Given the description of an element on the screen output the (x, y) to click on. 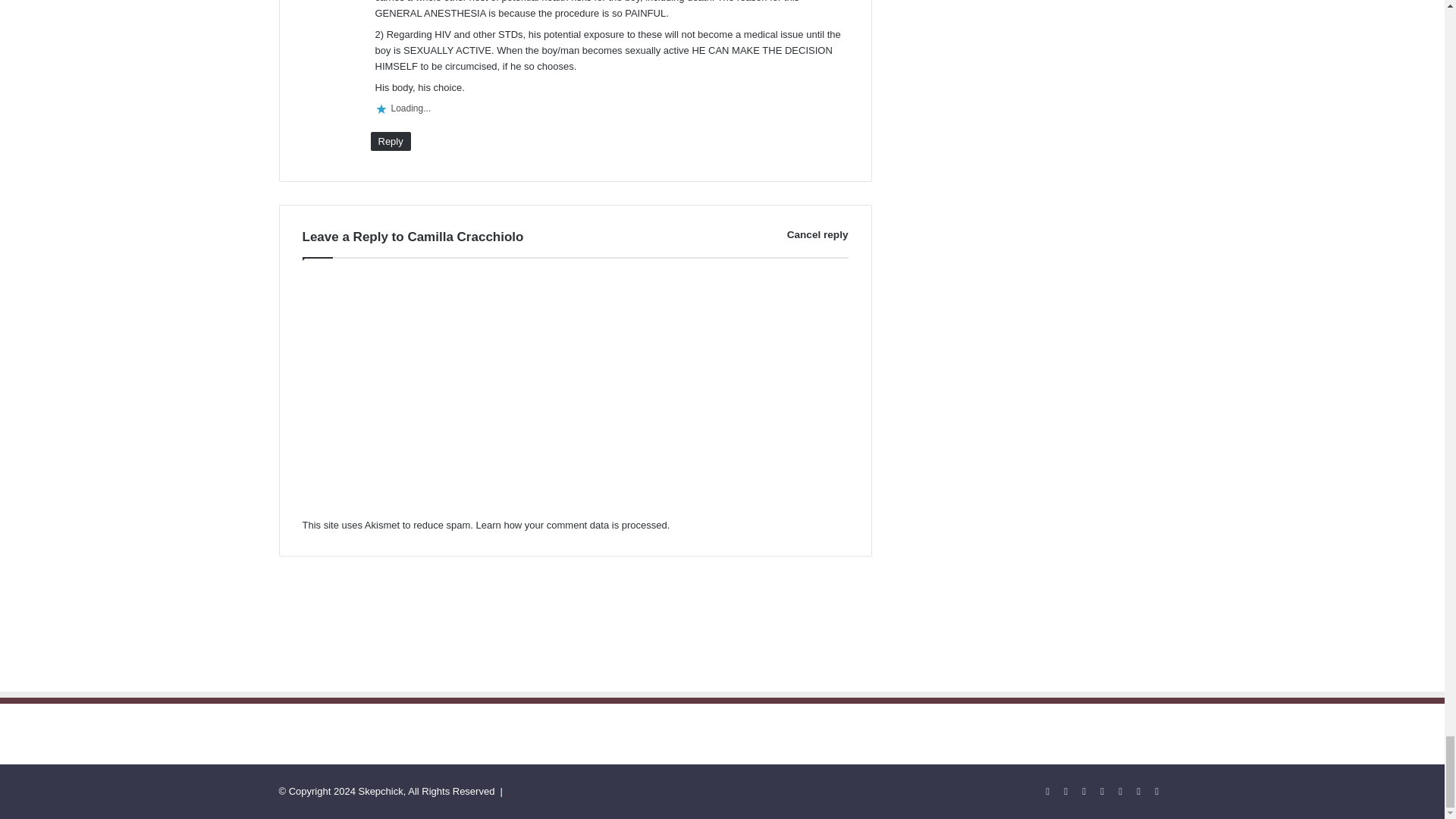
Comment Form (574, 392)
